Given the description of an element on the screen output the (x, y) to click on. 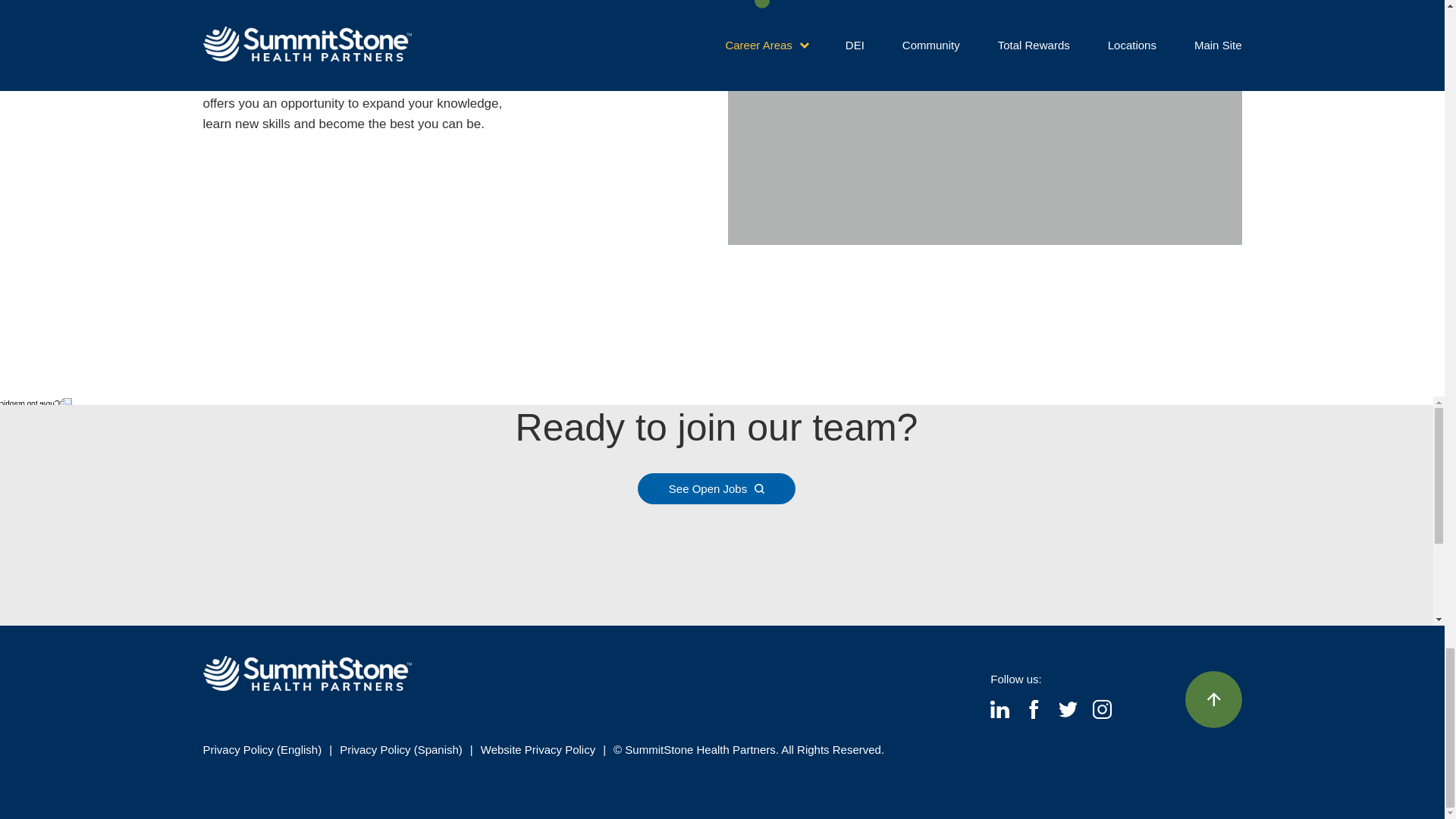
LinkedIn (999, 714)
Facebook (1034, 714)
Twitter (1067, 714)
See Open Jobs (715, 488)
Instagram (1102, 714)
Website Privacy Policy (537, 748)
